Given the description of an element on the screen output the (x, y) to click on. 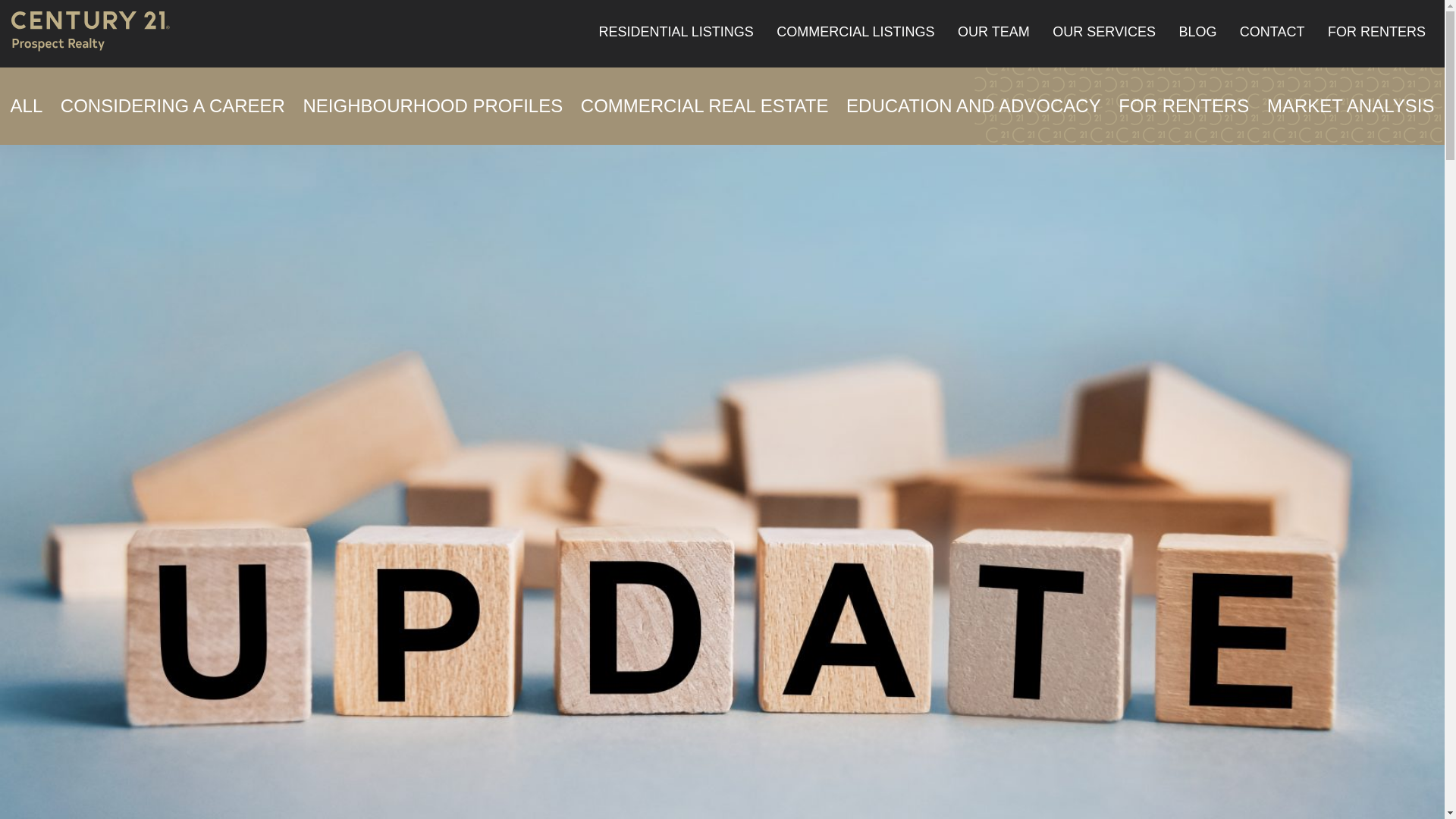
Commercial Listings (855, 31)
CONTACT (1272, 31)
OUR SERVICES (1104, 31)
RESIDENTIAL LISTINGS (675, 31)
FOR RENTERS (1376, 31)
Residential Listings (675, 31)
COMMERCIAL LISTINGS (855, 31)
OUR TEAM (993, 31)
BLOG (1197, 31)
